Given the description of an element on the screen output the (x, y) to click on. 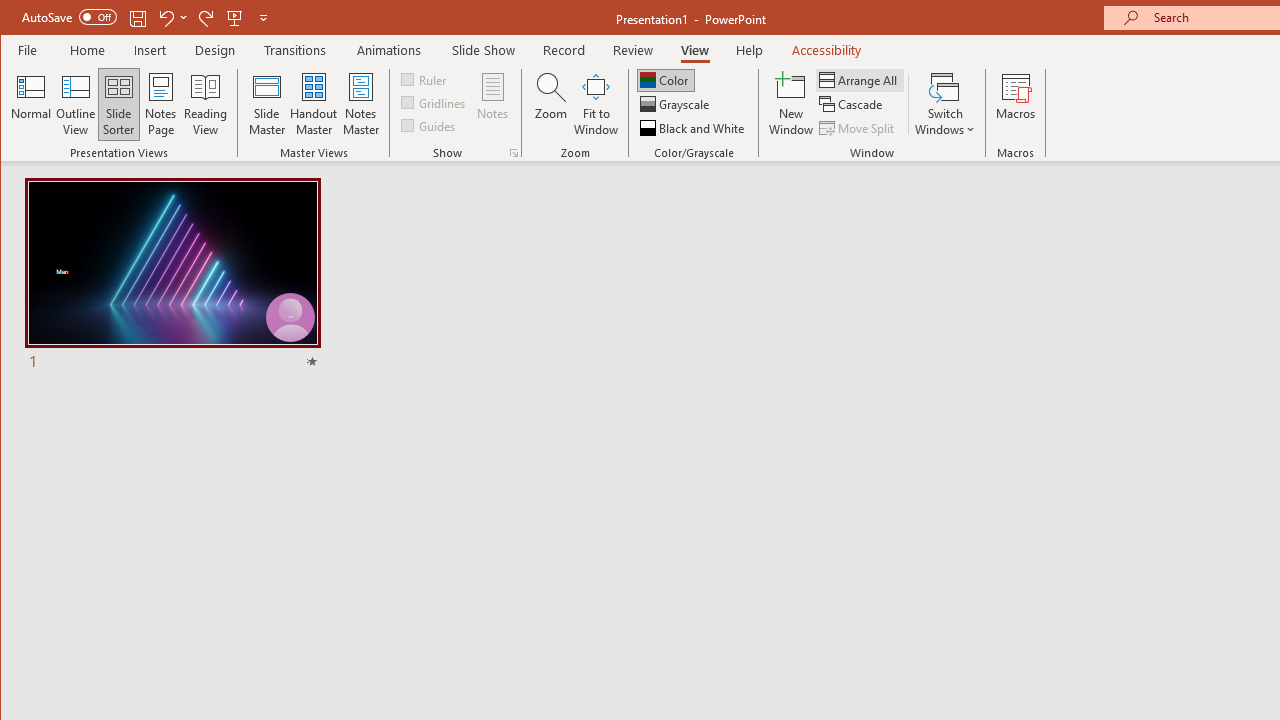
Handout Master (314, 104)
Switch Windows (944, 104)
